Given the description of an element on the screen output the (x, y) to click on. 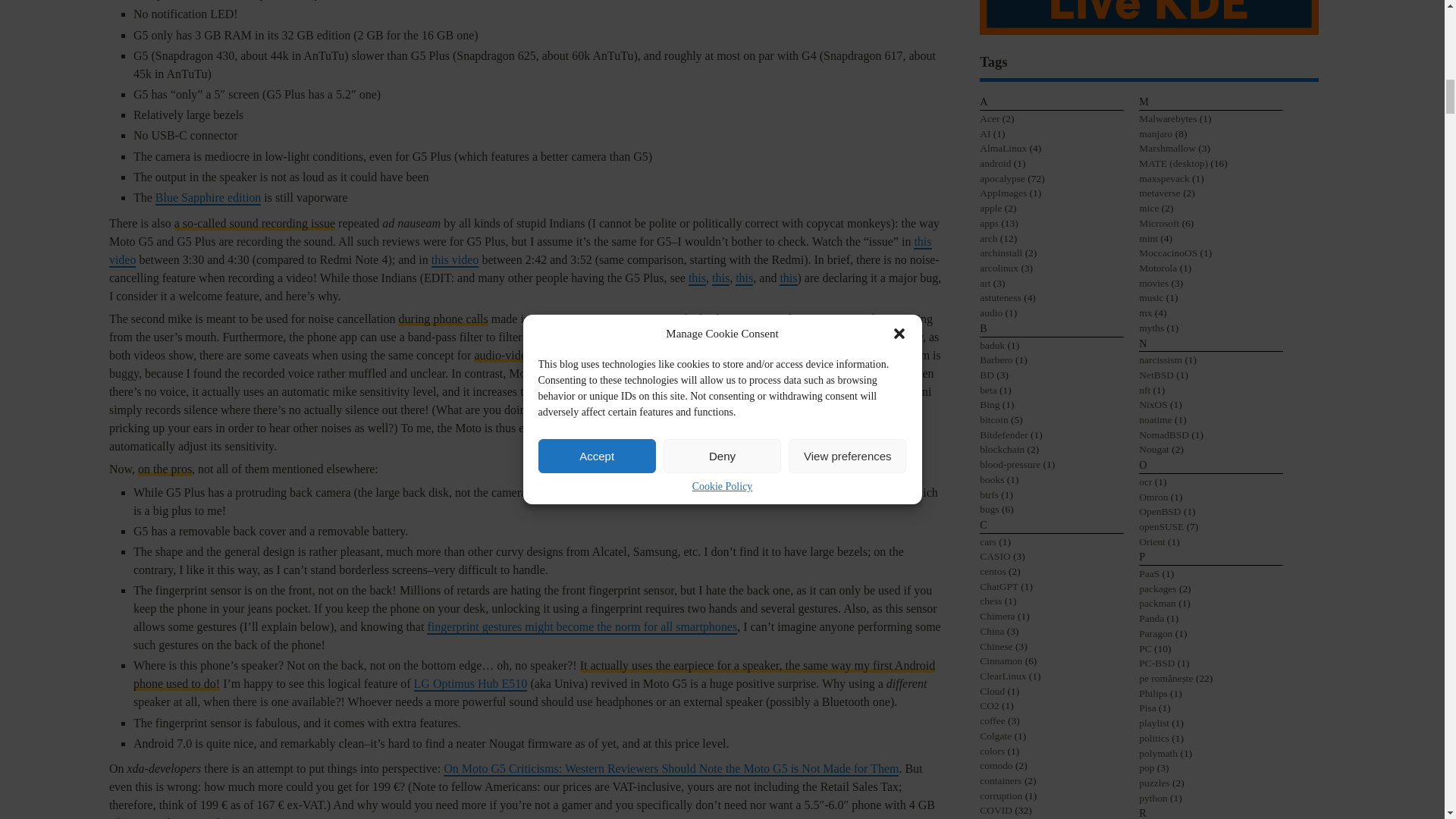
this (743, 278)
arcolinux (999, 267)
AlmaLinux (1004, 147)
this (787, 278)
Acer (990, 118)
android (996, 163)
archinstall (1002, 252)
AppImages (1004, 193)
arch (988, 238)
art (985, 283)
apps (990, 223)
Blue Sapphire edition (208, 197)
this (720, 278)
